Given the description of an element on the screen output the (x, y) to click on. 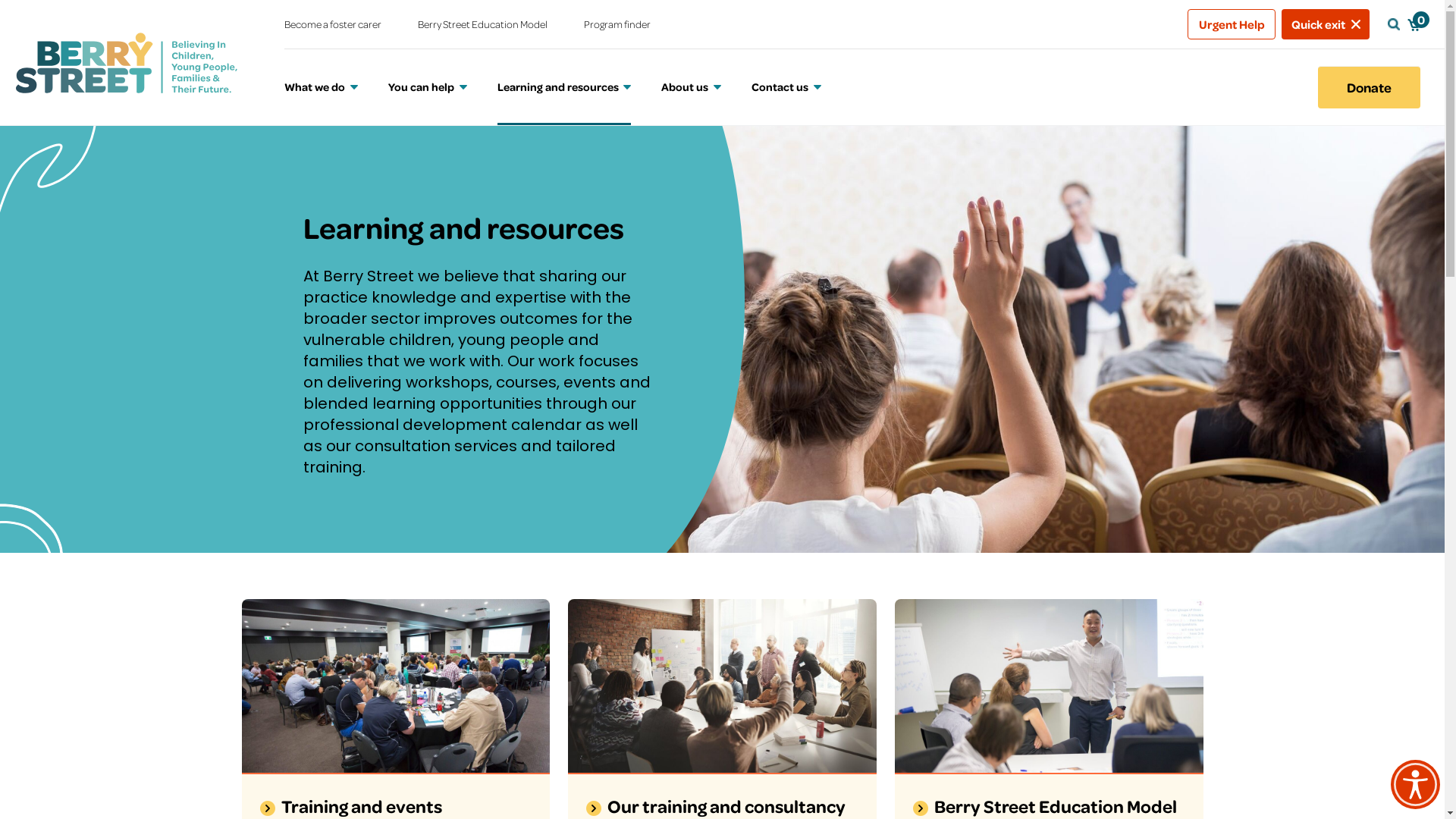
Contact us Element type: text (786, 87)
Donate Element type: text (1368, 86)
About us Element type: text (691, 87)
Learning and resources
(current page) Element type: text (564, 87)
Berry street logo Element type: text (126, 62)
Urgent Help Element type: text (1231, 24)
Quick exit Element type: text (1325, 24)
You can help Element type: text (427, 87)
0
Berry Street cart icon Element type: text (1413, 24)
What we do Element type: text (320, 87)
Program finder Element type: text (616, 23)
Berry Street Education Model Element type: text (482, 23)
Become a foster carer Element type: text (332, 23)
